Given the description of an element on the screen output the (x, y) to click on. 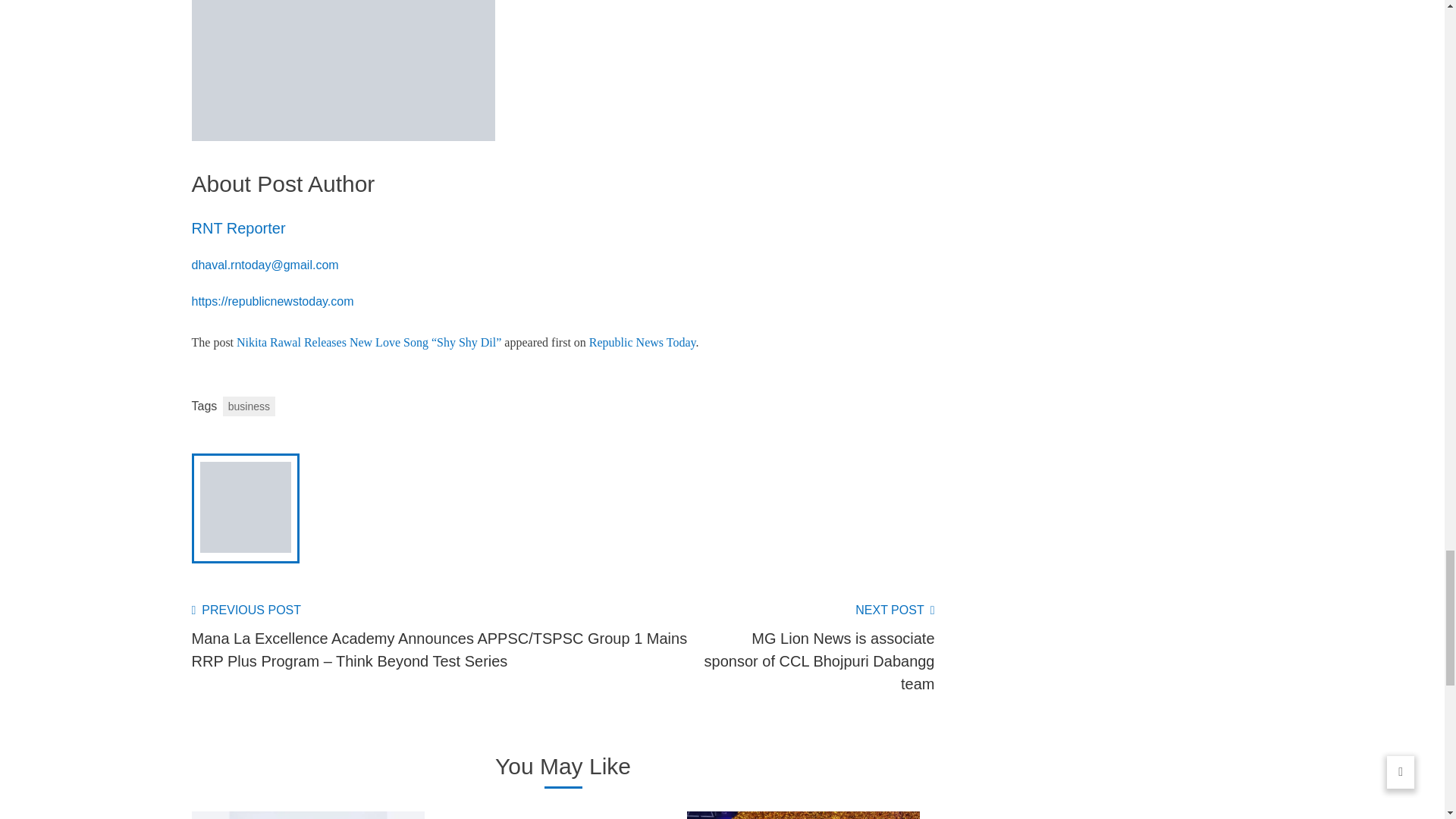
RNT Reporter (237, 238)
business (248, 406)
Republic News Today (642, 341)
